Given the description of an element on the screen output the (x, y) to click on. 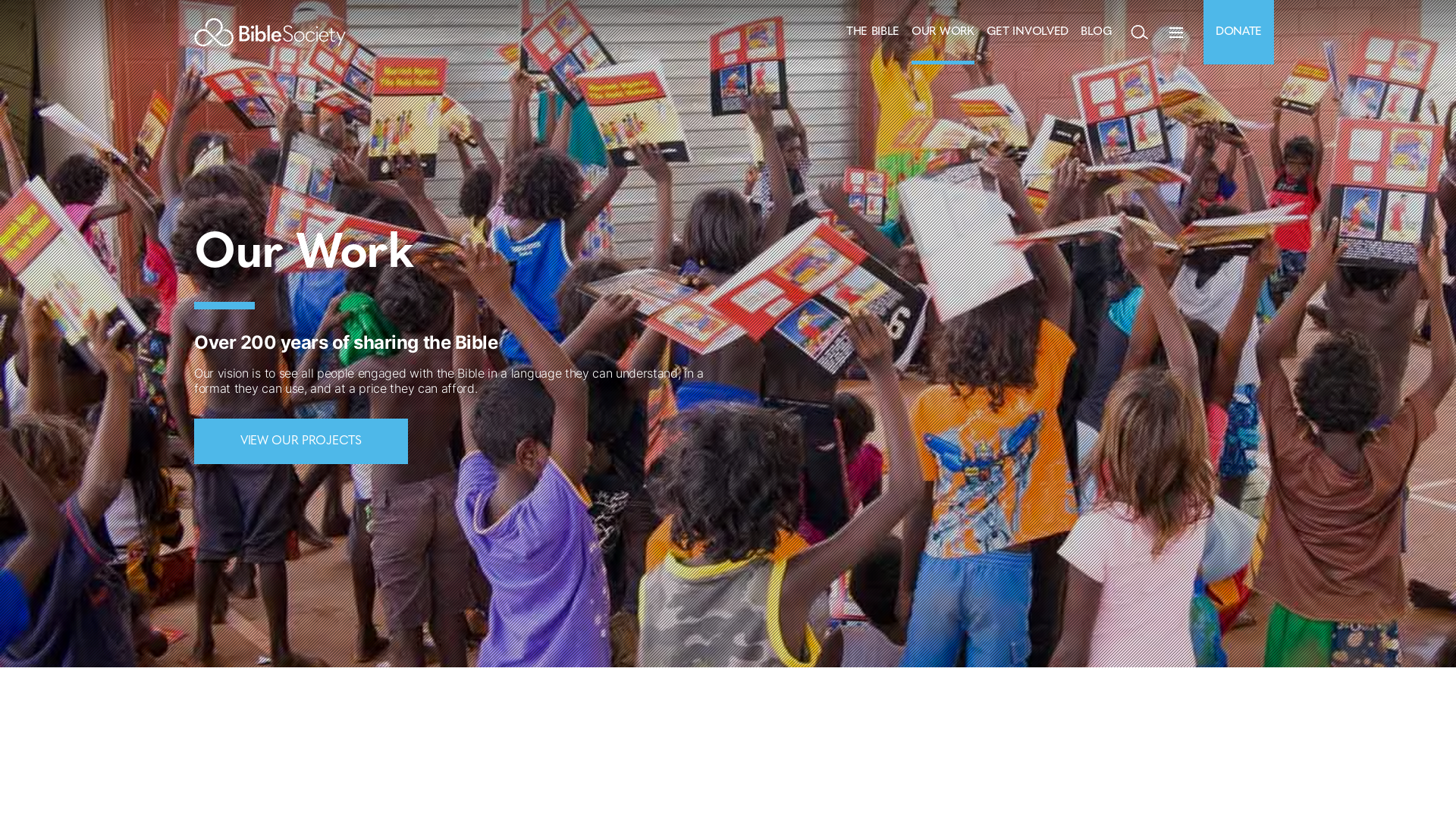
GET INVOLVED Element type: text (1027, 32)
DONATE Element type: text (1238, 32)
BLOG Element type: text (1096, 32)
OUR WORK Element type: text (942, 32)
Return to the Bible Society Homepage Element type: hover (269, 32)
THE BIBLE Element type: text (872, 32)
VIEW OUR PROJECTS Element type: text (300, 441)
